Given the description of an element on the screen output the (x, y) to click on. 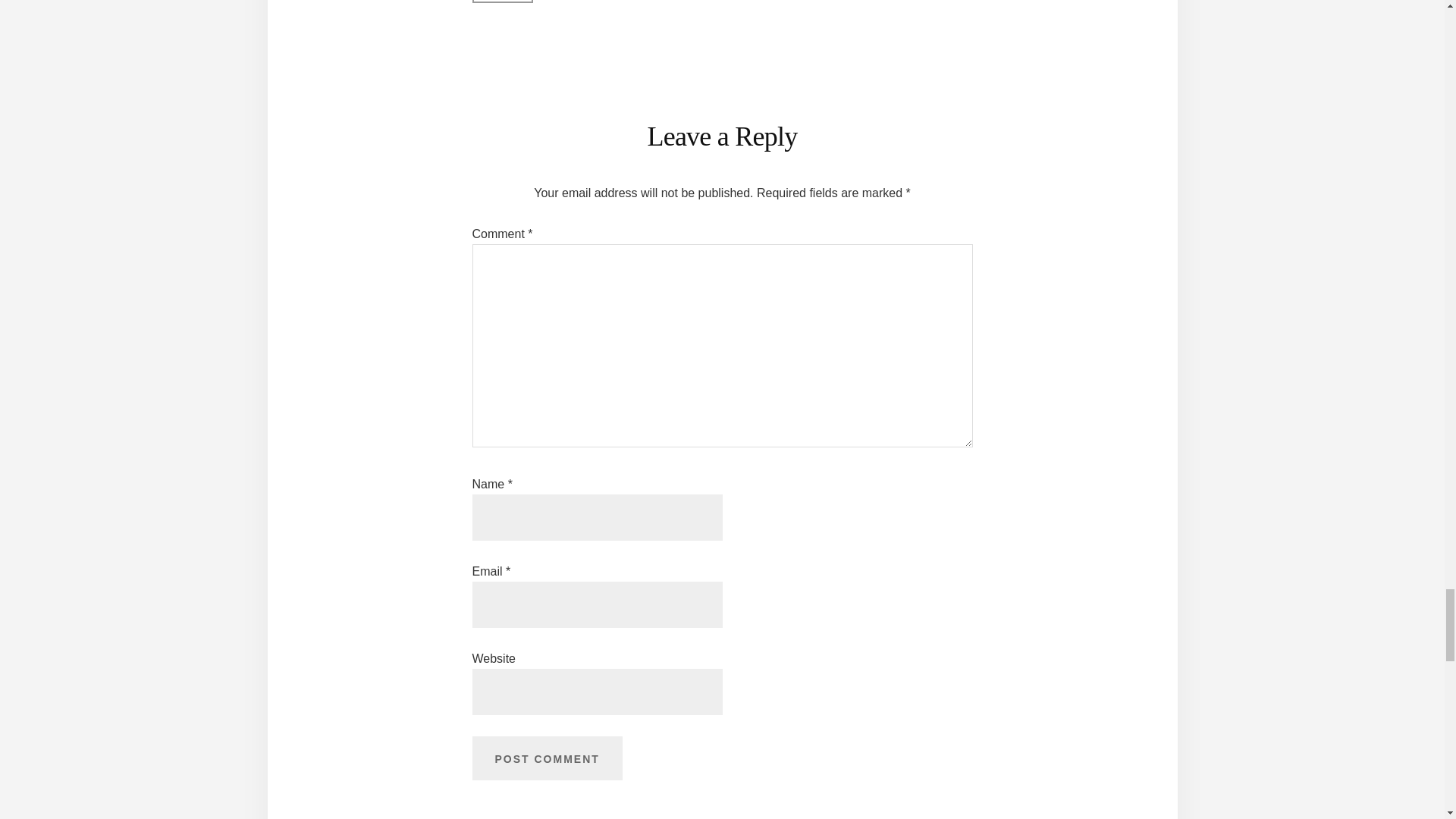
Post Comment (546, 758)
REPLY (501, 1)
Post Comment (546, 758)
